Given the description of an element on the screen output the (x, y) to click on. 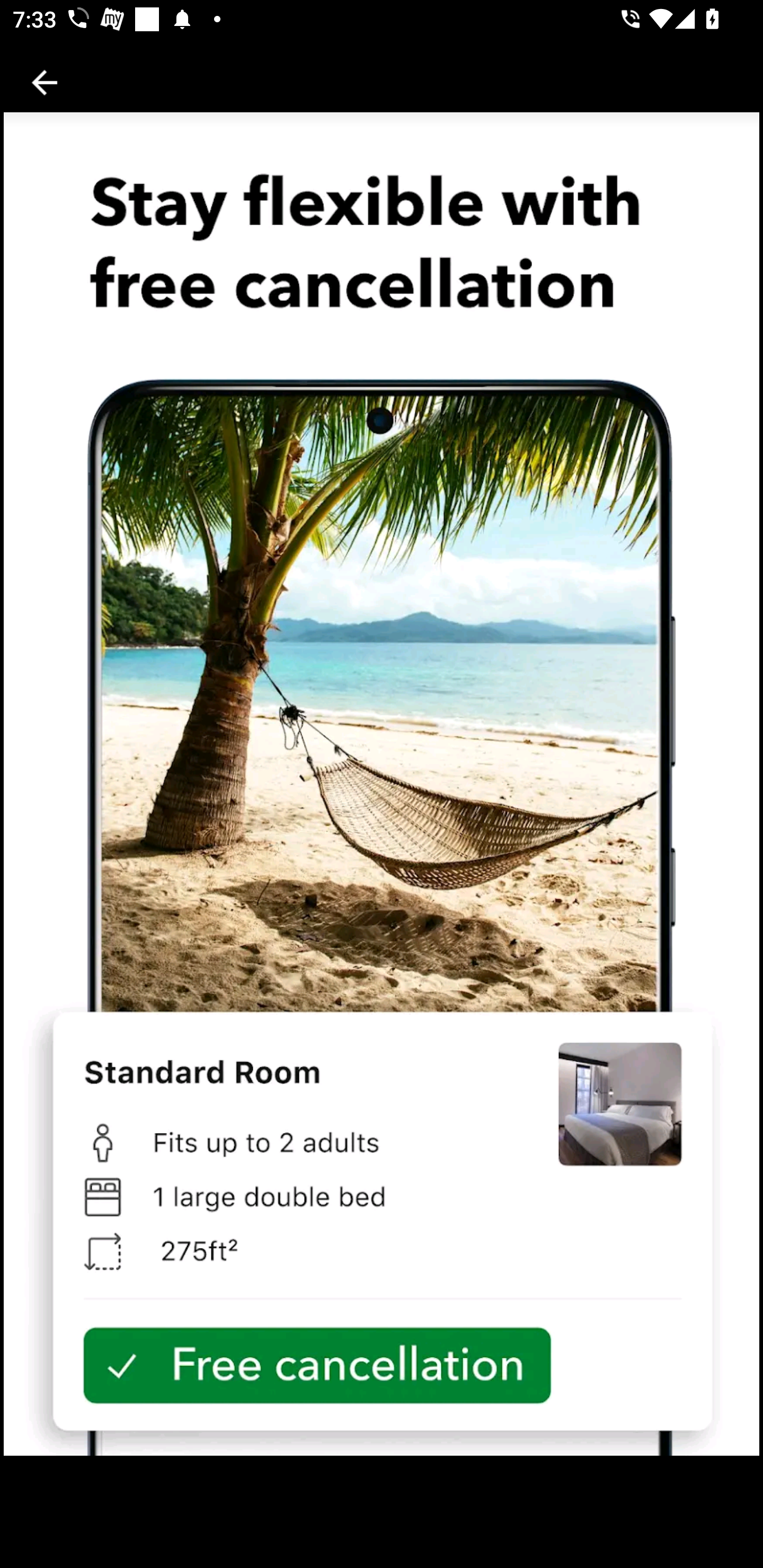
Back (44, 82)
